Given the description of an element on the screen output the (x, y) to click on. 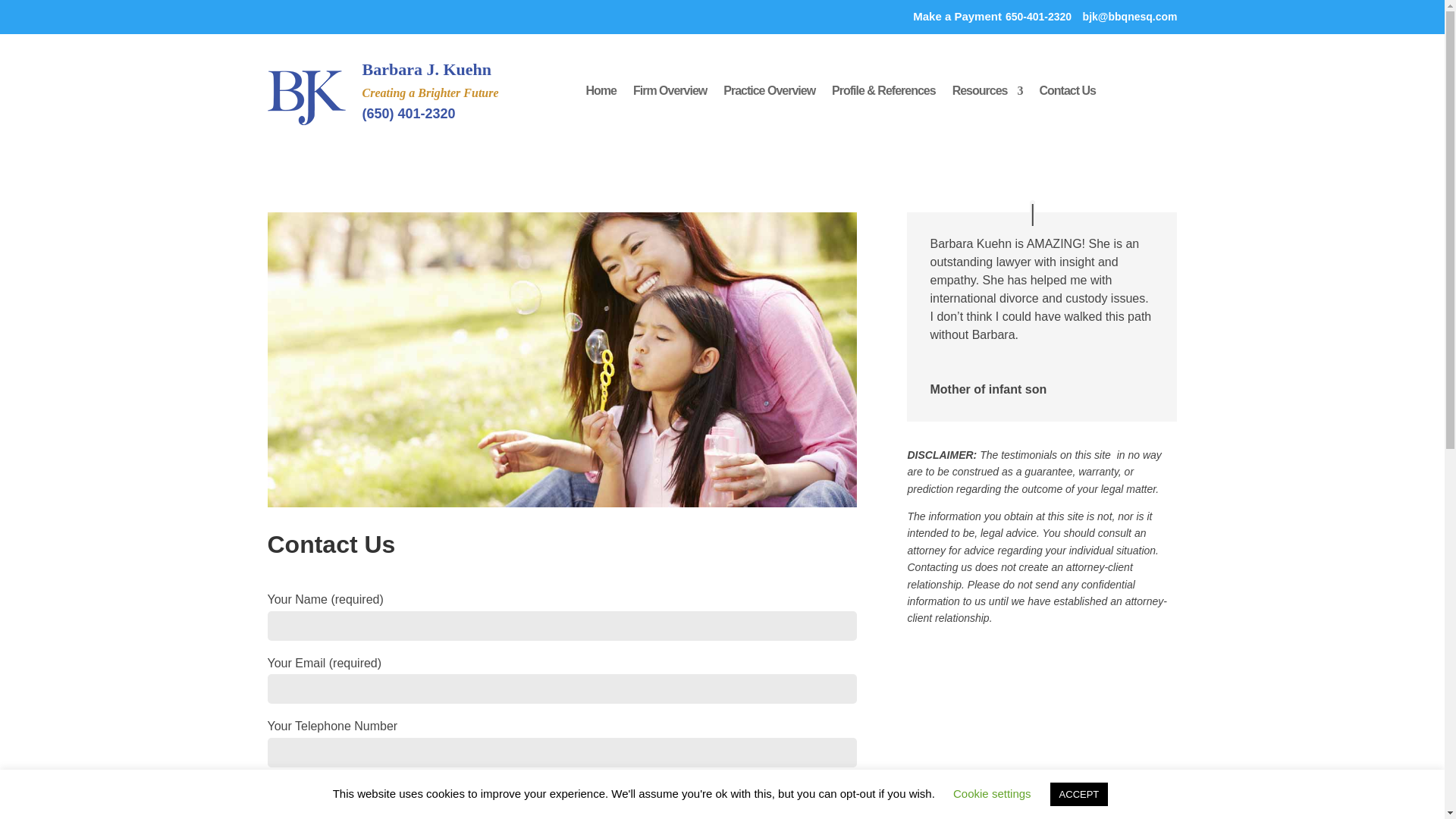
Make a Payment (956, 15)
bjk-logo-75h (309, 96)
Contact Us (1066, 93)
Resources (987, 93)
Cookie settings (991, 793)
650-401-2320 (1038, 16)
Email (287, 810)
Practice Overview (769, 93)
ACCEPT (1078, 793)
Home (600, 93)
Firm Overview (669, 93)
